Given the description of an element on the screen output the (x, y) to click on. 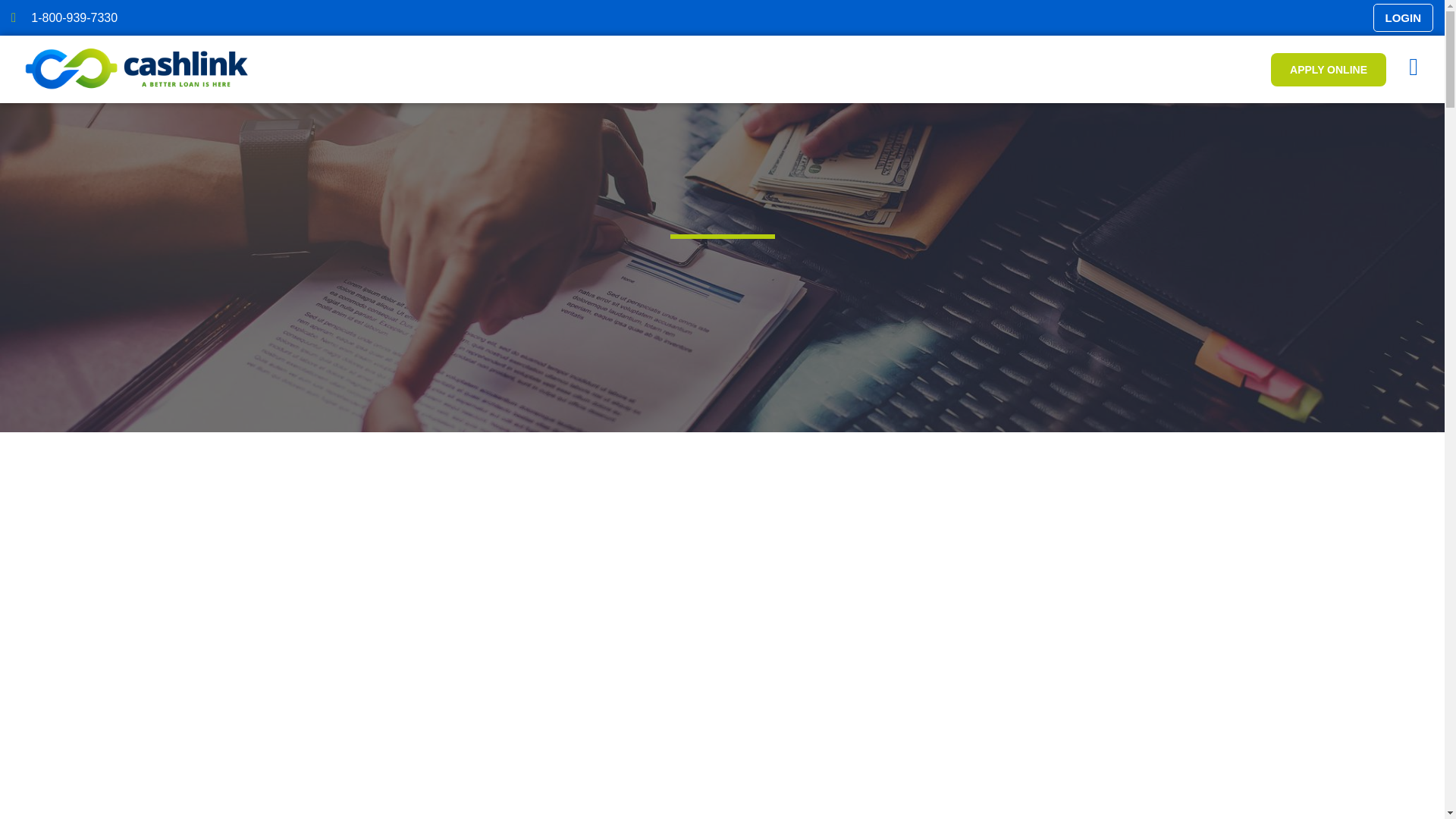
APPLY ONLINE (1328, 69)
LOGIN (1402, 17)
1-800-939-7330 (366, 18)
